Given the description of an element on the screen output the (x, y) to click on. 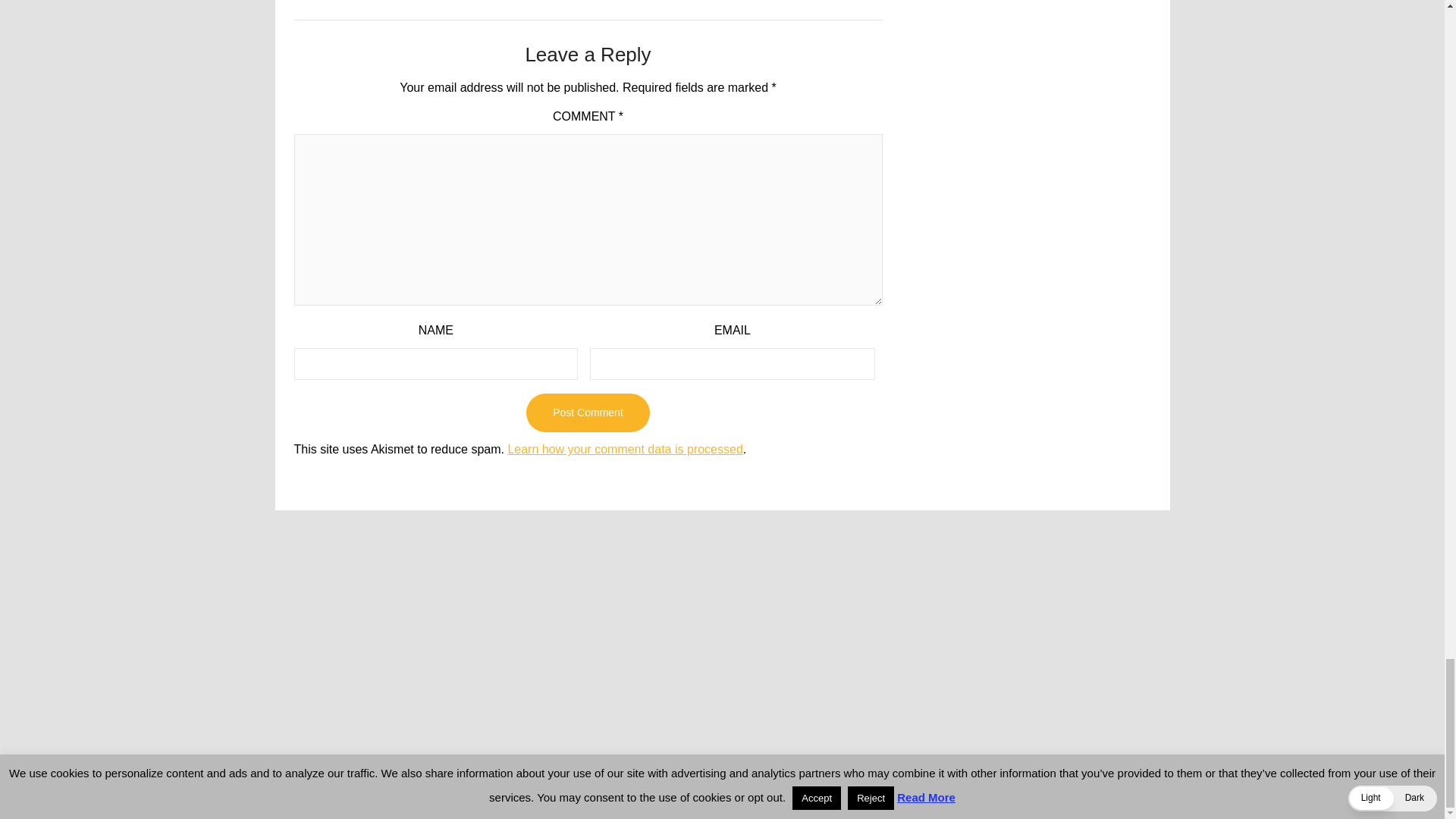
Learn how your comment data is processed (624, 449)
Post Comment (587, 412)
Post Comment (587, 412)
